Given the description of an element on the screen output the (x, y) to click on. 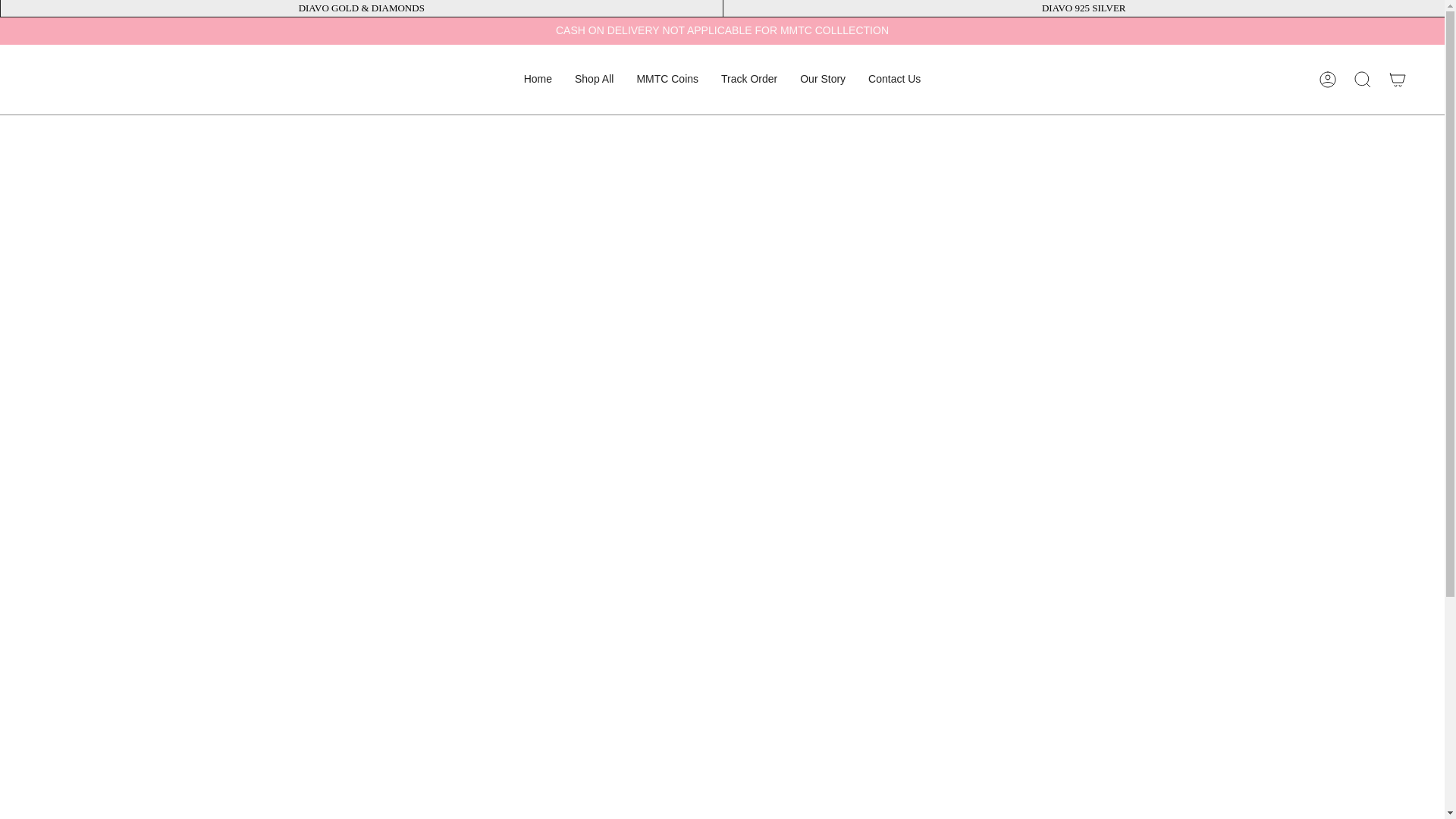
MMTC Coins (667, 79)
Home (537, 79)
Cart (1397, 79)
Shop All (593, 79)
Search (1362, 79)
My Account (1327, 79)
Track Order (749, 79)
